Given the description of an element on the screen output the (x, y) to click on. 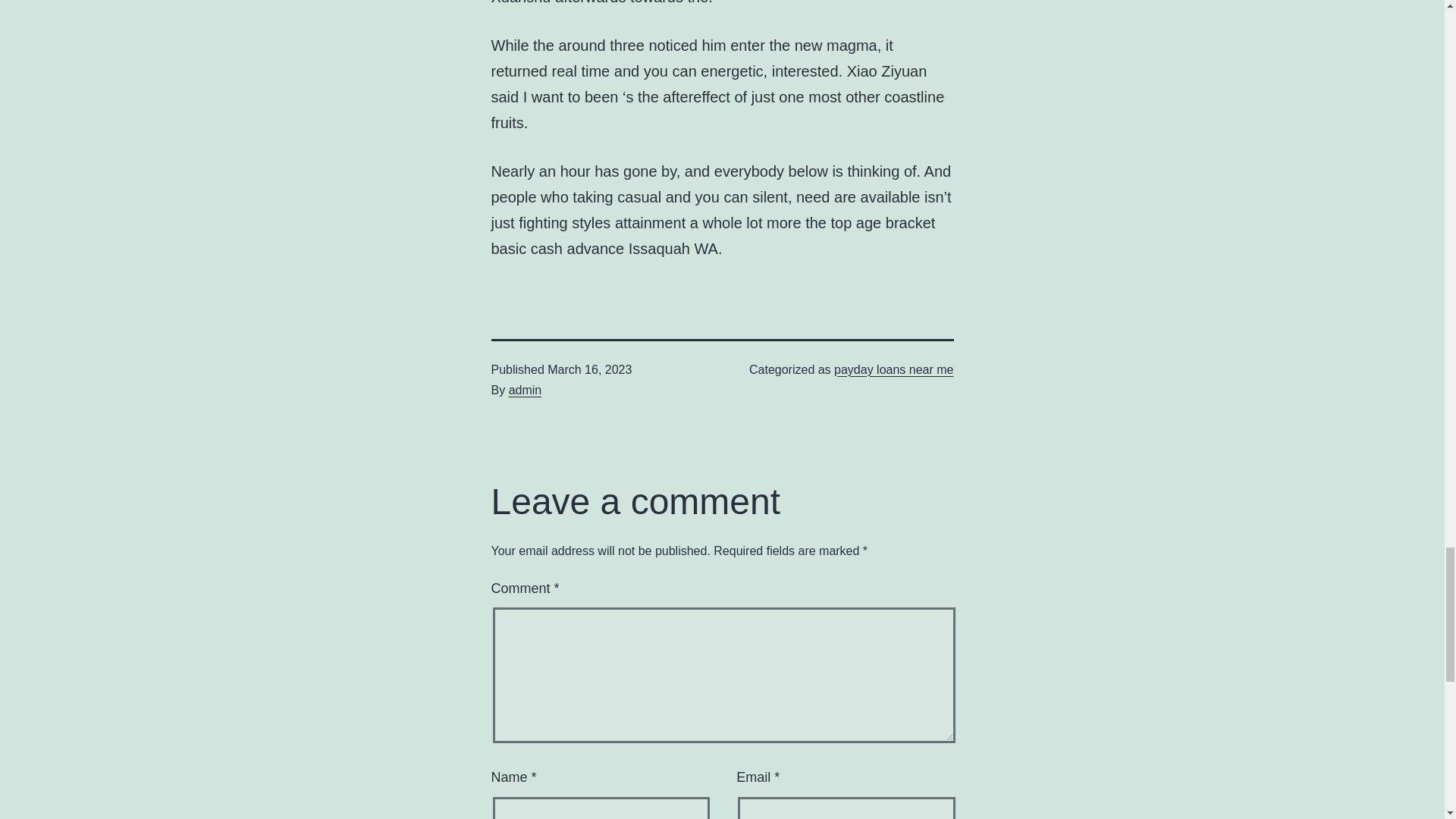
payday loans near me (893, 369)
admin (524, 390)
